Given the description of an element on the screen output the (x, y) to click on. 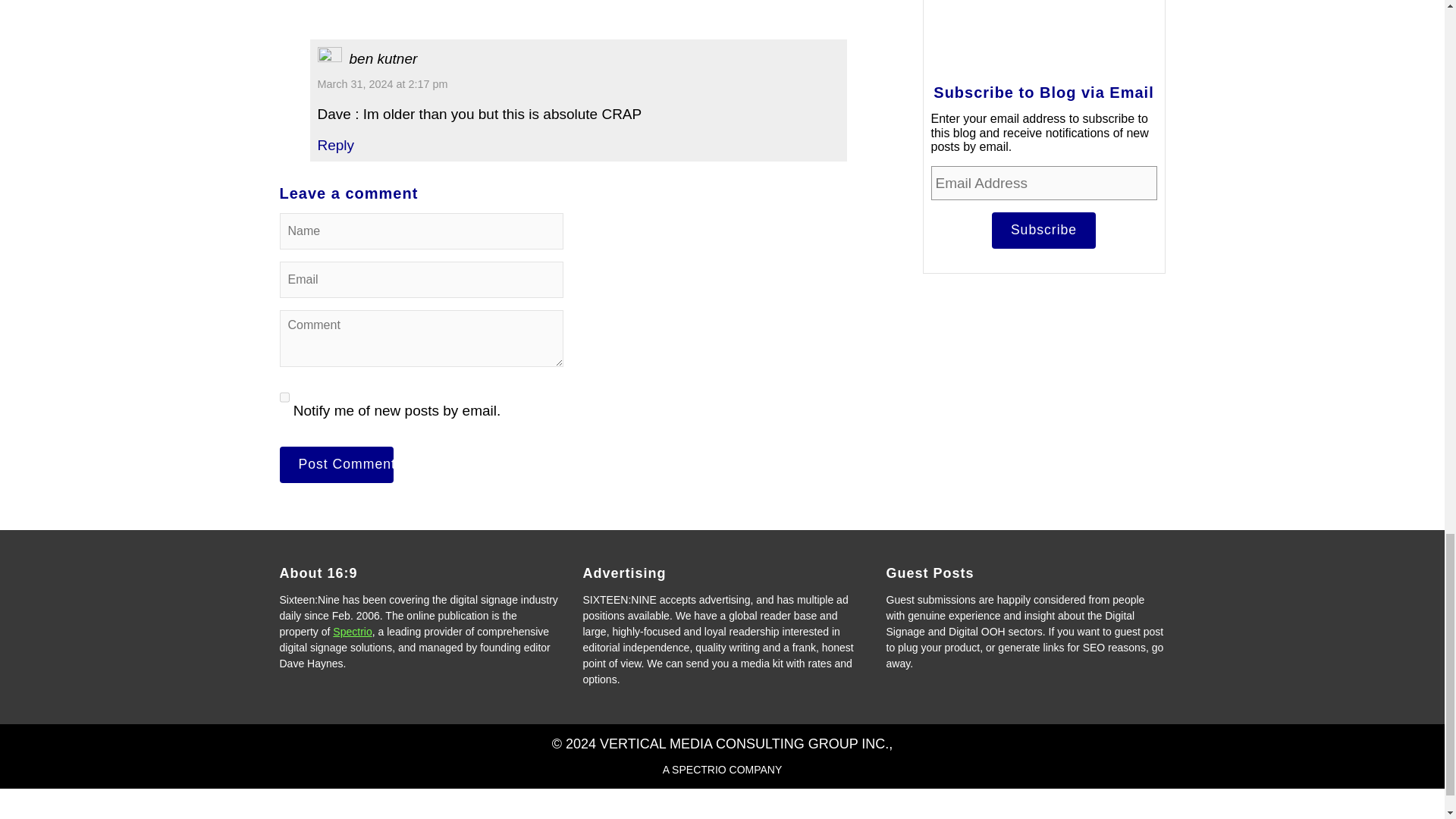
Subscribe (1043, 230)
March 31, 2024 at 2:17 pm (381, 83)
Post Comment (336, 464)
A SPECTRIO COMPANY (721, 769)
Post Comment (336, 464)
Spectrio (352, 631)
Reply (335, 145)
